Given the description of an element on the screen output the (x, y) to click on. 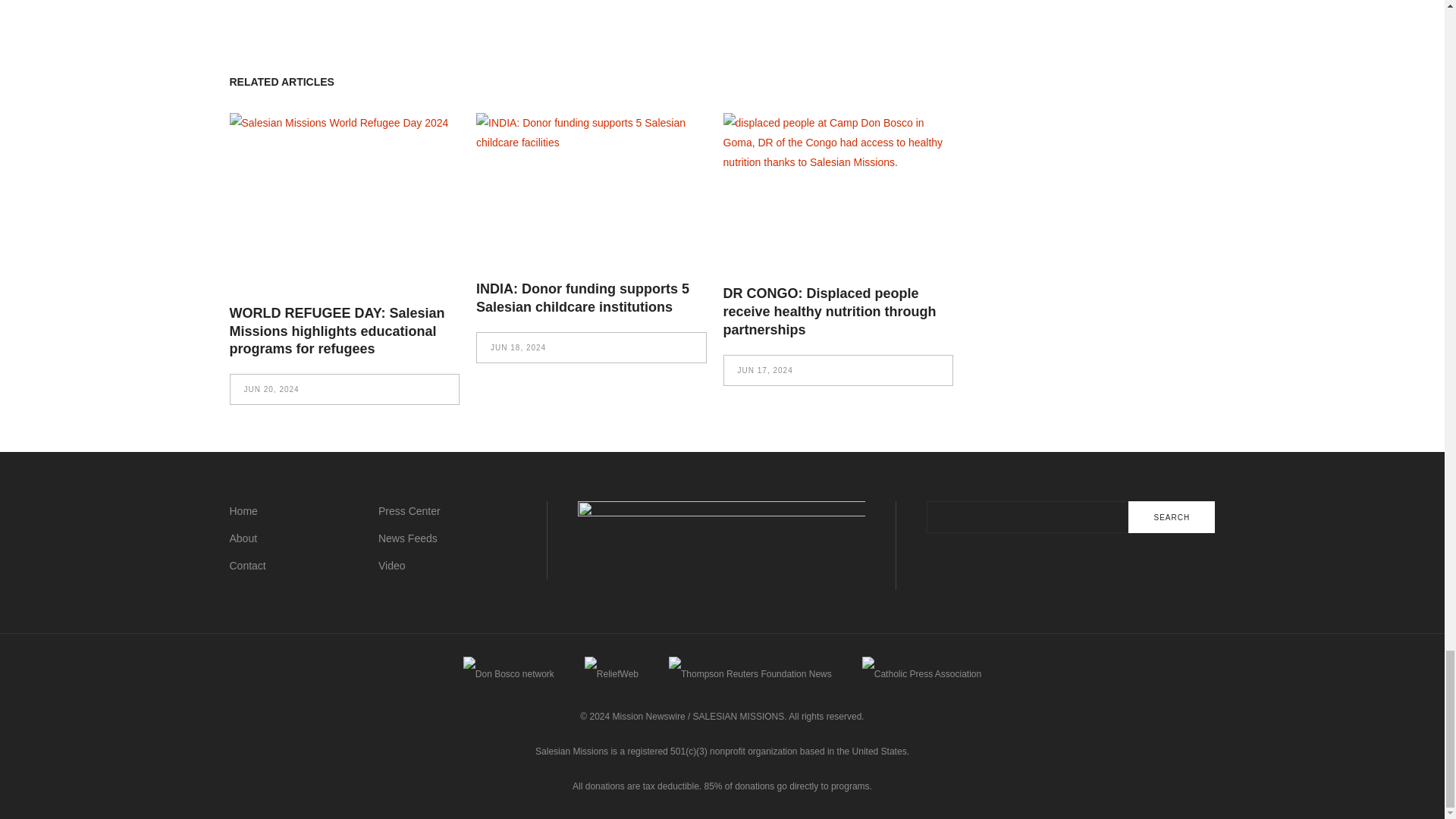
Search (1171, 517)
